Given the description of an element on the screen output the (x, y) to click on. 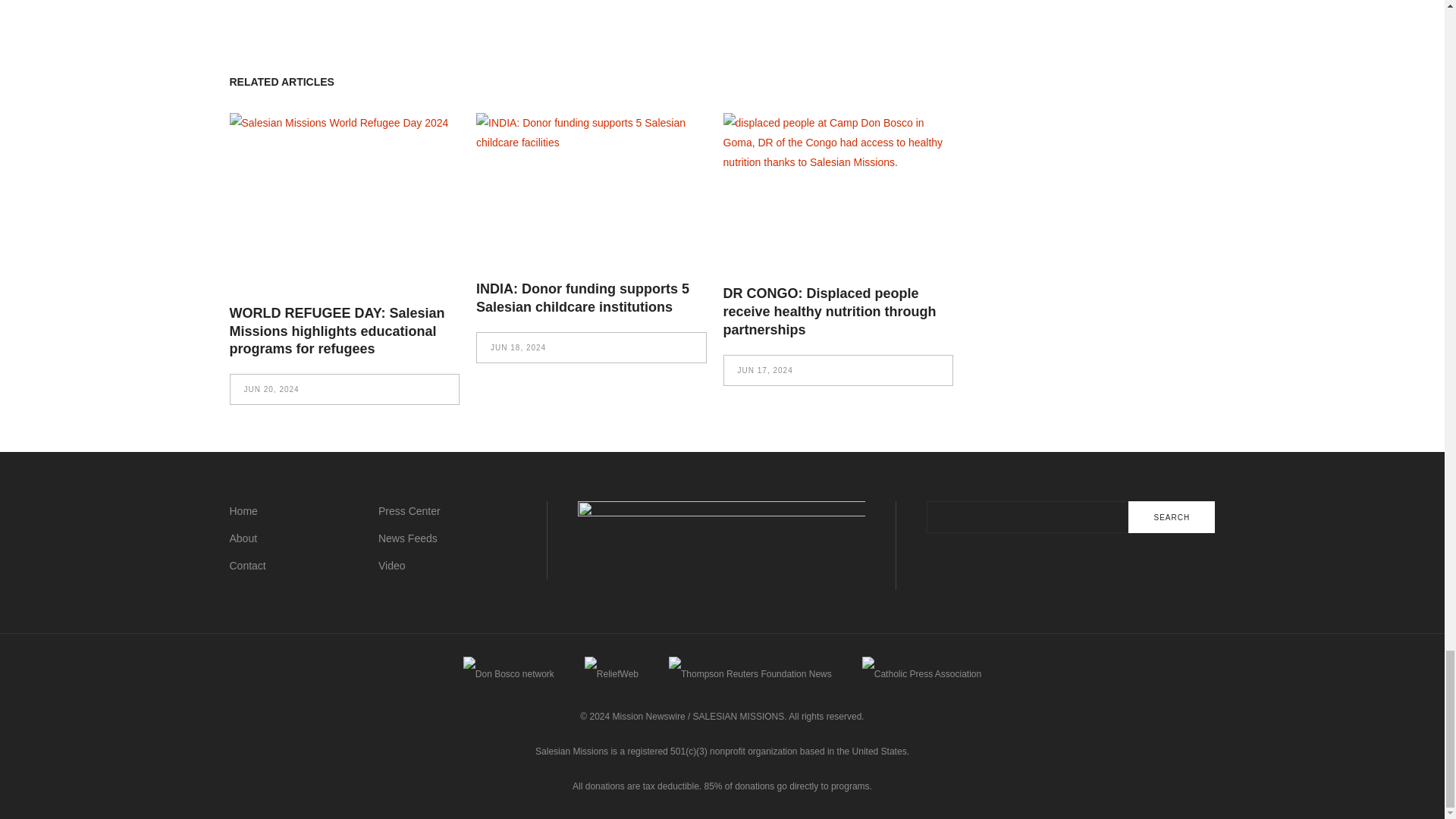
Search (1171, 517)
